Given the description of an element on the screen output the (x, y) to click on. 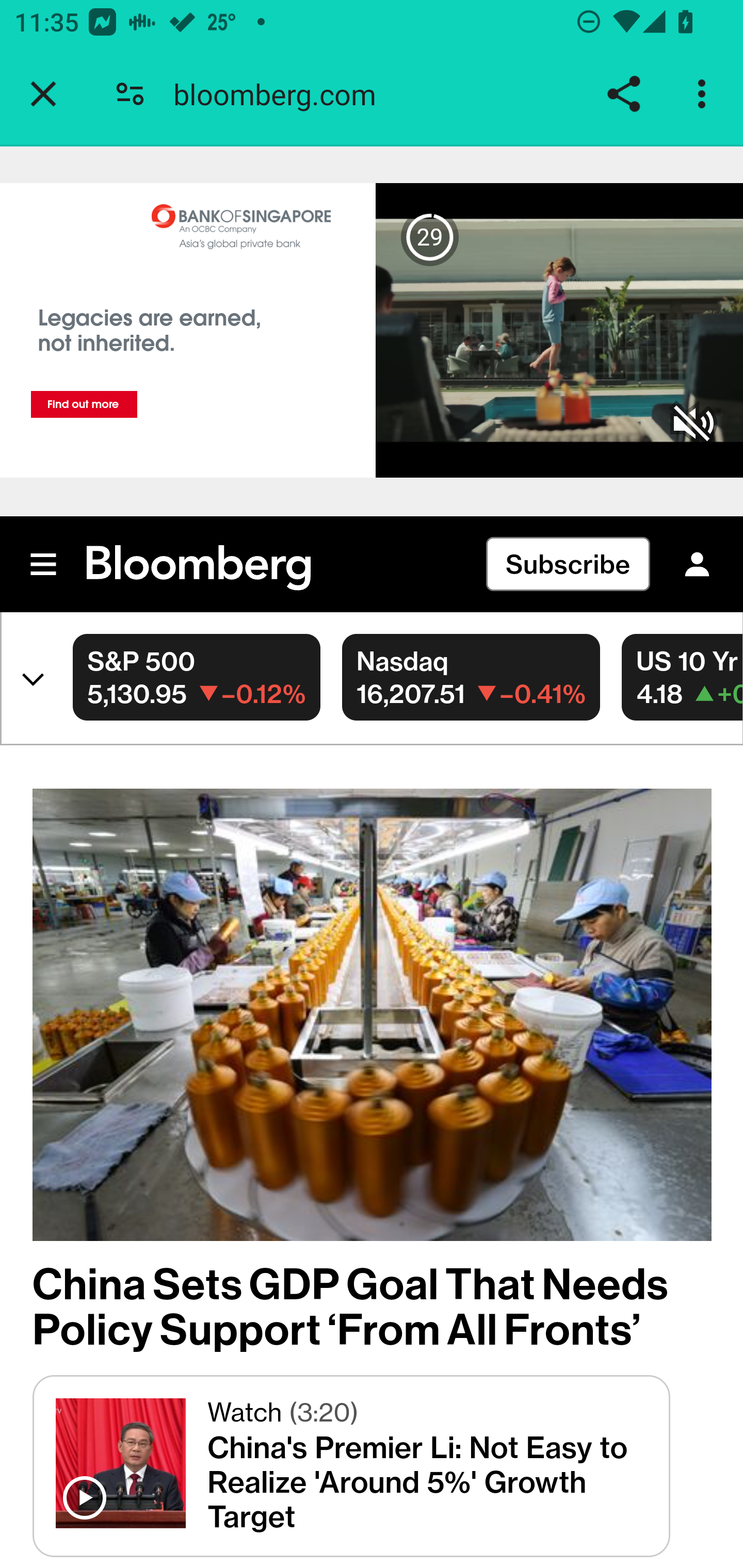
Close tab (43, 93)
Share (623, 93)
Customize and control Google Chrome (705, 93)
Connection is secure (129, 93)
bloomberg.com (281, 93)
Mobile Menu Button (44, 564)
Subscribe (567, 564)
Sign In (696, 564)
Bloomberg (199, 568)
Top Securities Chevron Down (27, 676)
